Given the description of an element on the screen output the (x, y) to click on. 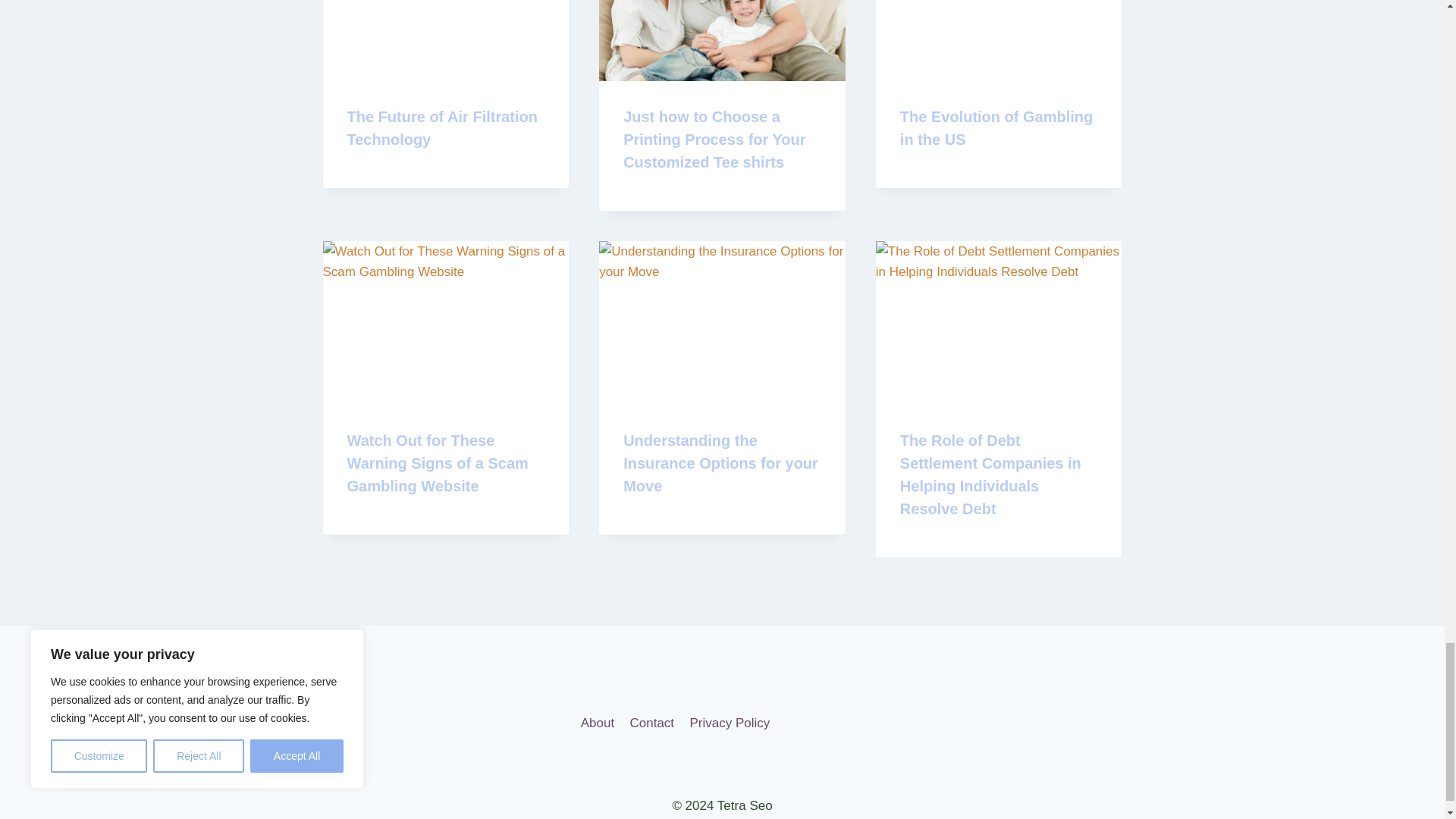
The Future of Air Filtration Technology (442, 128)
